Given the description of an element on the screen output the (x, y) to click on. 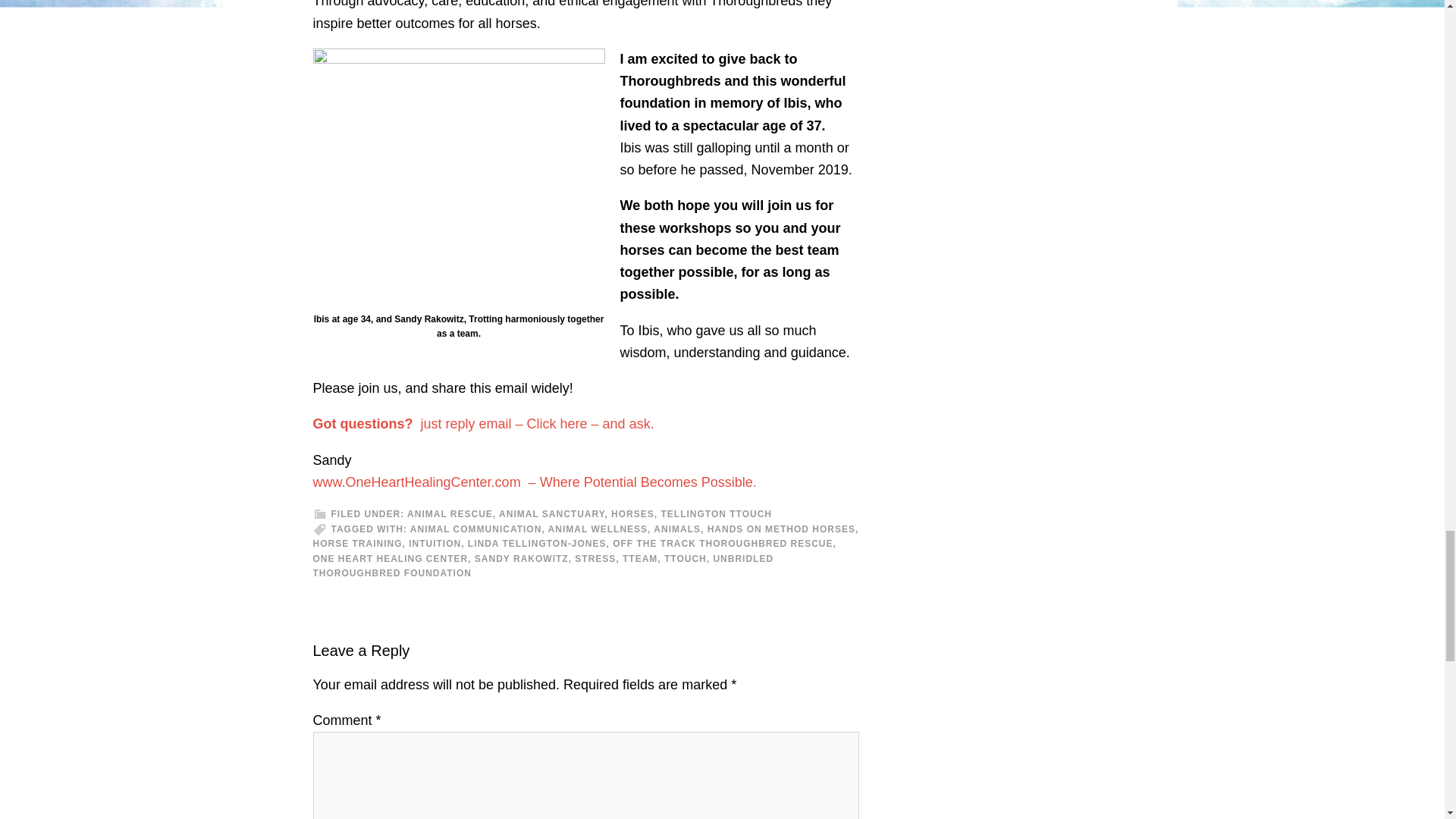
HORSE TRAINING (357, 543)
ANIMAL WELLNESS (597, 529)
ANIMALS (676, 529)
ANIMAL RESCUE (450, 513)
TELLINGTON TTOUCH (716, 513)
HORSES (632, 513)
ANIMAL SANCTUARY (551, 513)
HANDS ON METHOD HORSES (781, 529)
ANIMAL COMMUNICATION (475, 529)
INTUITION (435, 543)
